Given the description of an element on the screen output the (x, y) to click on. 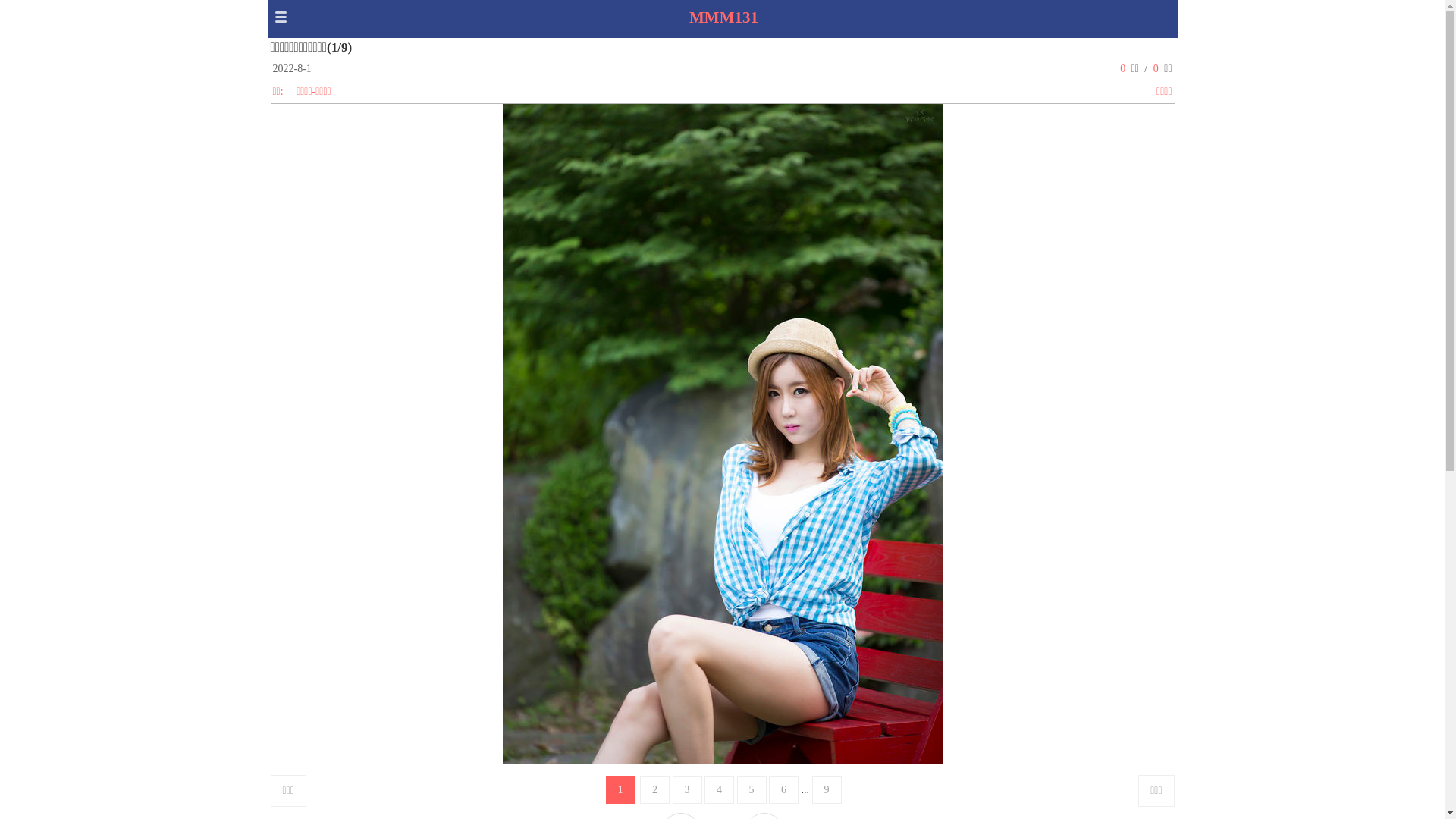
9 Element type: text (825, 789)
MMM131 Element type: text (723, 17)
6 Element type: text (783, 789)
2 Element type: text (654, 789)
5 Element type: text (751, 789)
0 Element type: text (1155, 68)
4 Element type: text (719, 789)
3 Element type: text (686, 789)
